Given the description of an element on the screen output the (x, y) to click on. 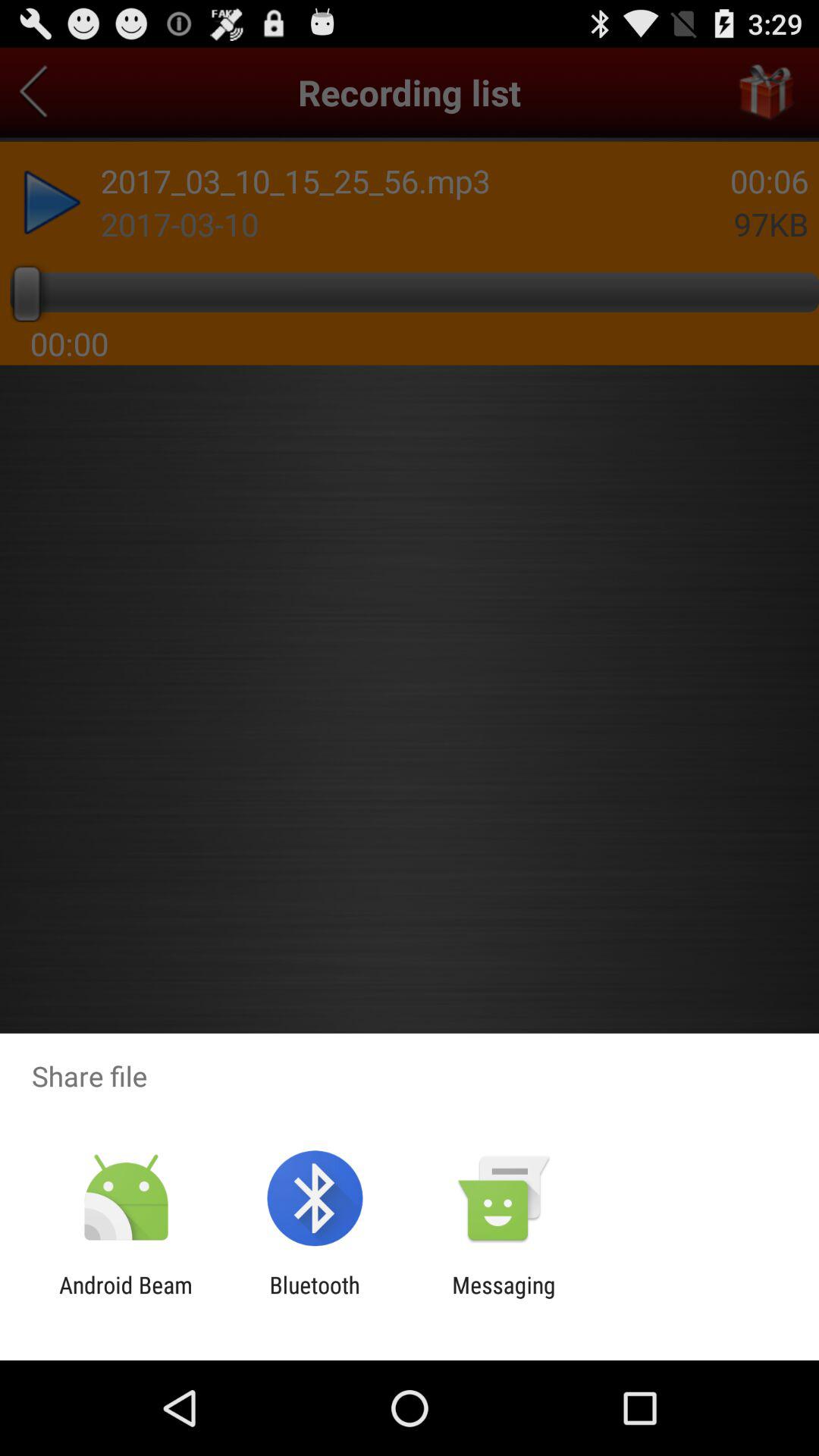
click messaging (503, 1298)
